Given the description of an element on the screen output the (x, y) to click on. 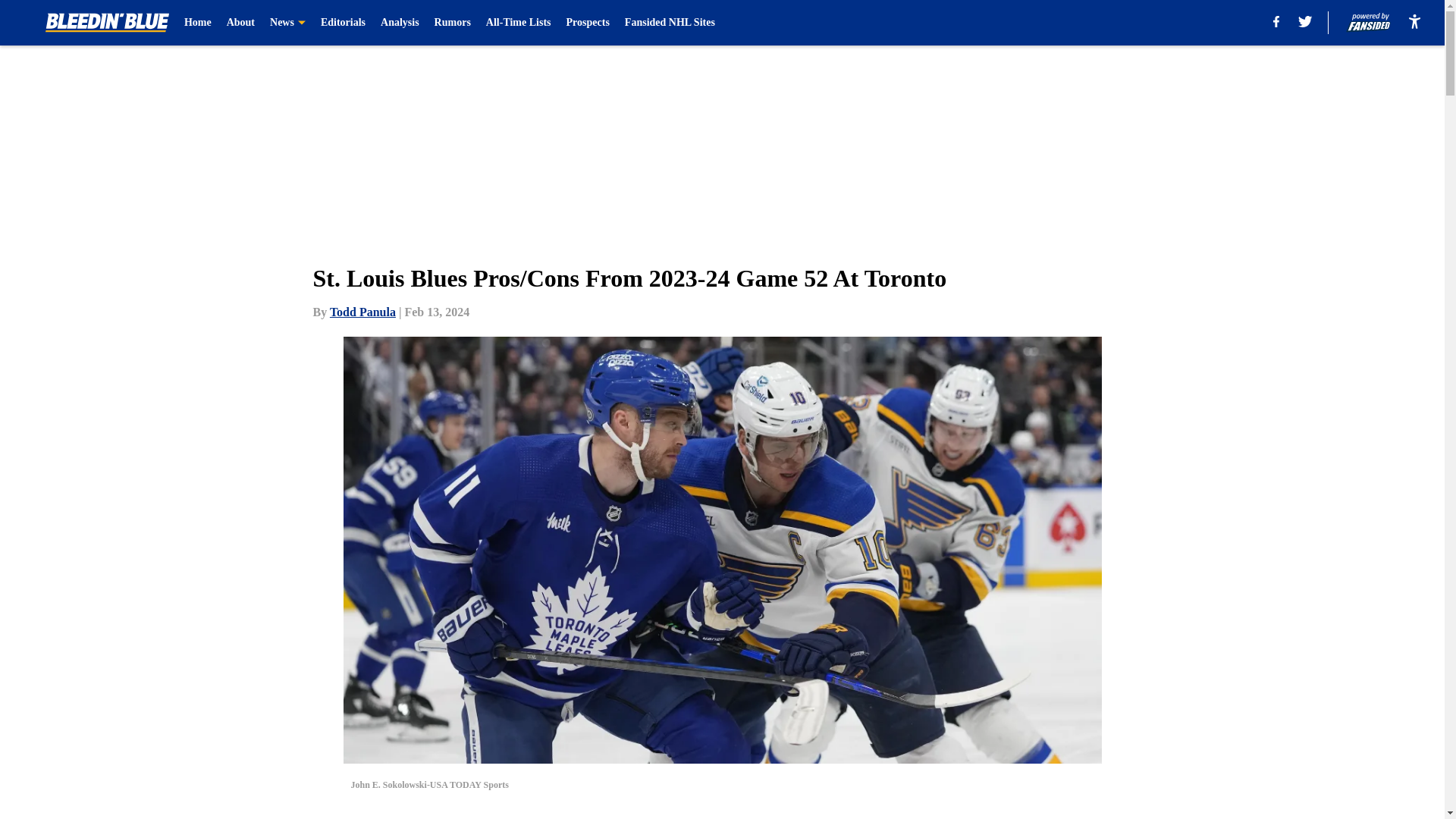
Analysis (399, 22)
Rumors (451, 22)
Fansided NHL Sites (669, 22)
About (240, 22)
Todd Panula (363, 311)
Prospects (588, 22)
Editorials (342, 22)
Home (197, 22)
All-Time Lists (518, 22)
